Given the description of an element on the screen output the (x, y) to click on. 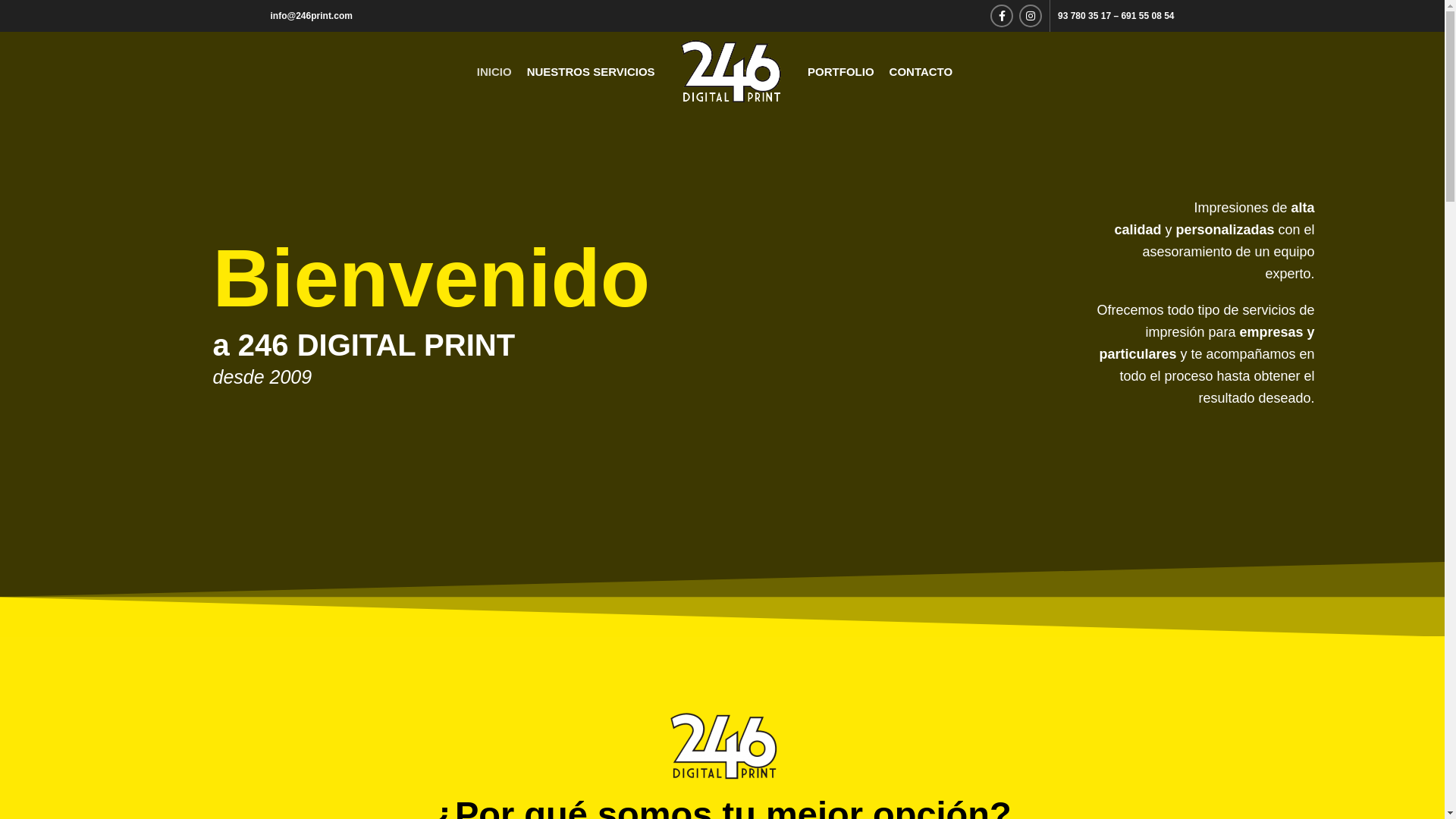
CONTACTO Element type: text (921, 71)
PORTFOLIO Element type: text (840, 71)
logo-t Element type: hover (722, 746)
INICIO Element type: text (493, 71)
NUESTROS SERVICIOS Element type: text (591, 71)
